Given the description of an element on the screen output the (x, y) to click on. 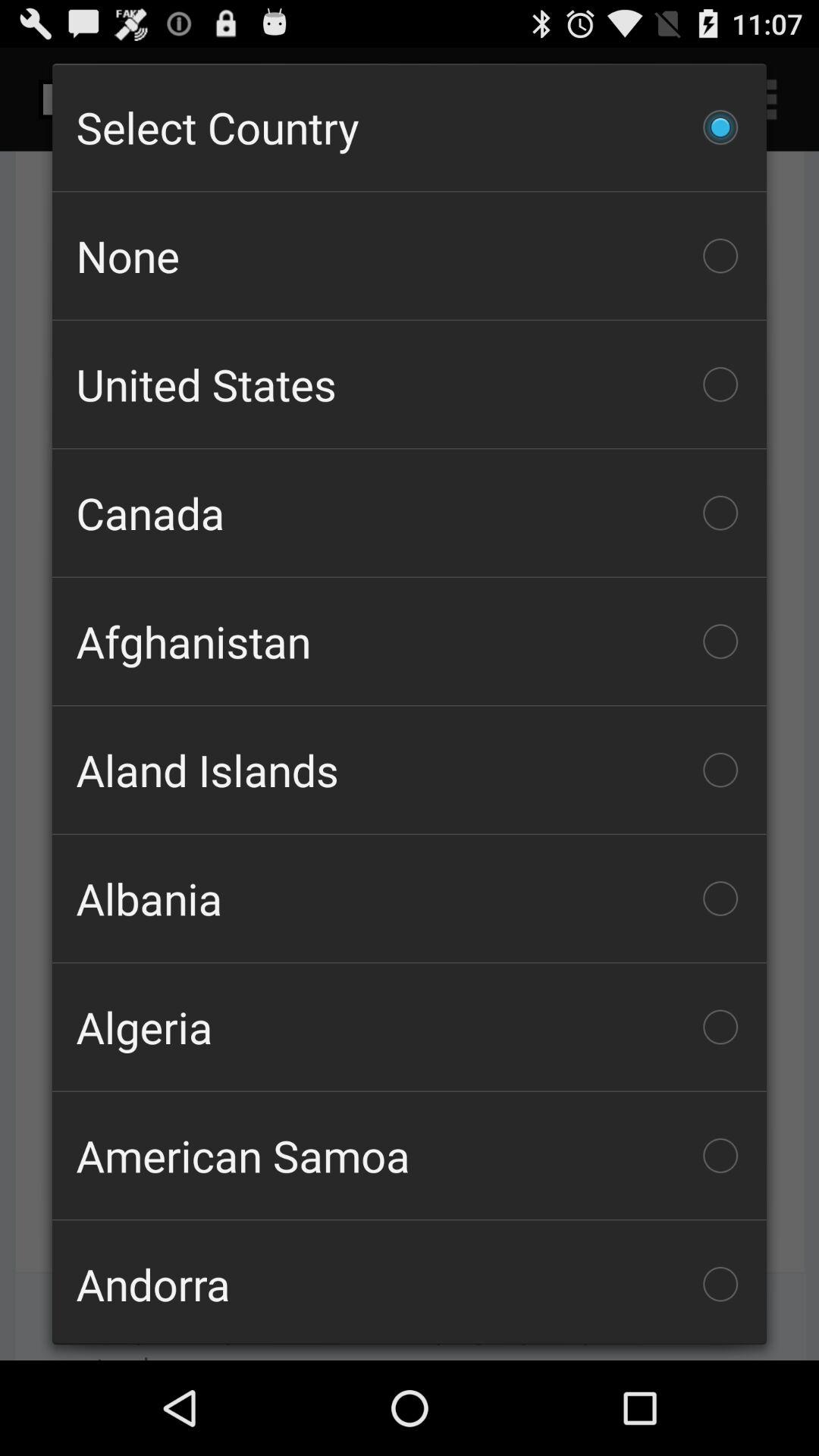
choose the checkbox above american samoa icon (409, 1026)
